Given the description of an element on the screen output the (x, y) to click on. 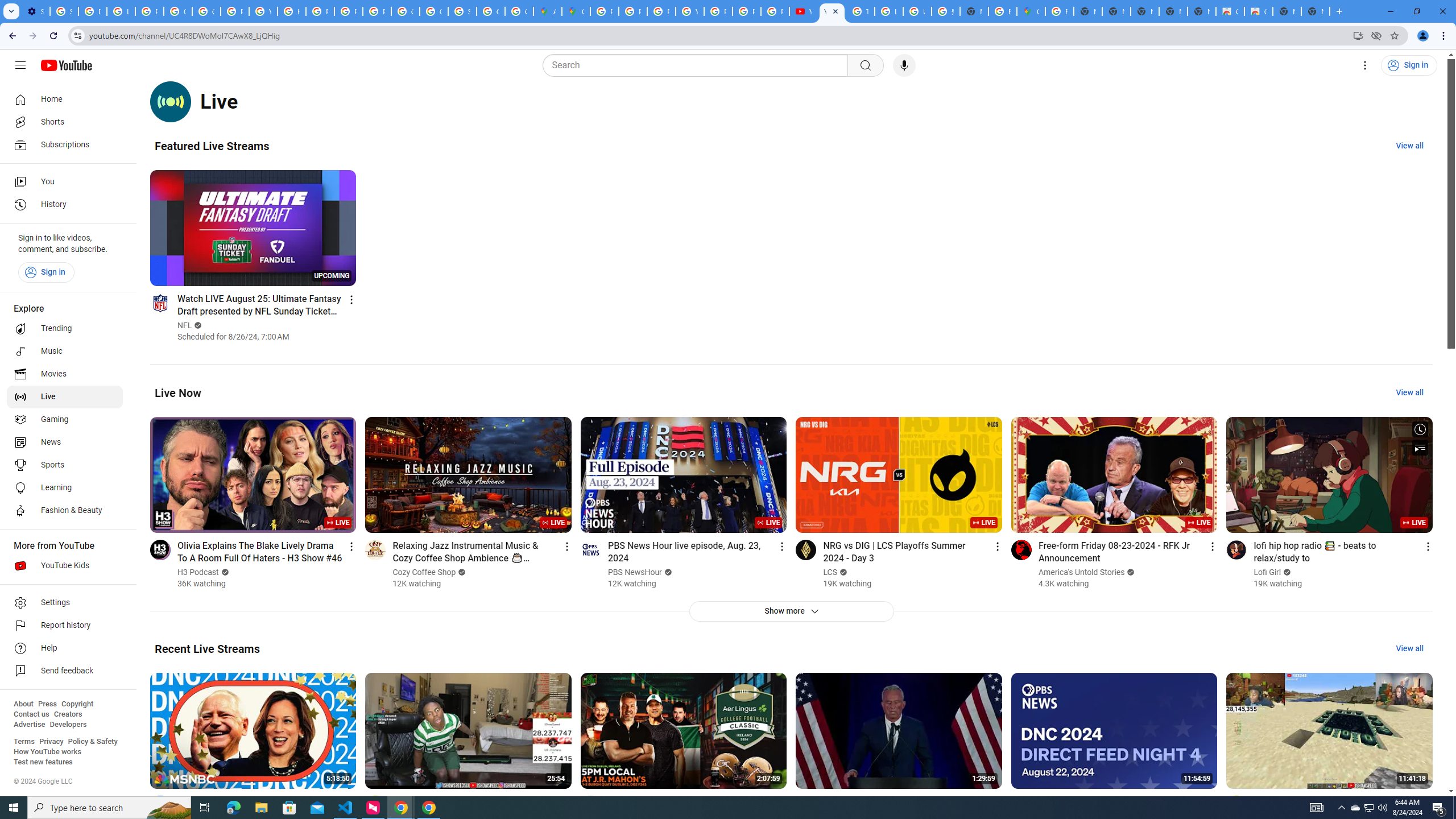
New Tab (973, 11)
America's Untold Stories (1081, 572)
Privacy Help Center - Policies Help (320, 11)
Learn how to find your photos - Google Photos Help (120, 11)
NFL (184, 325)
Home (64, 99)
History (64, 204)
Sign in - Google Accounts (461, 11)
Gaming (64, 419)
Show more (790, 610)
Music (64, 350)
